Given the description of an element on the screen output the (x, y) to click on. 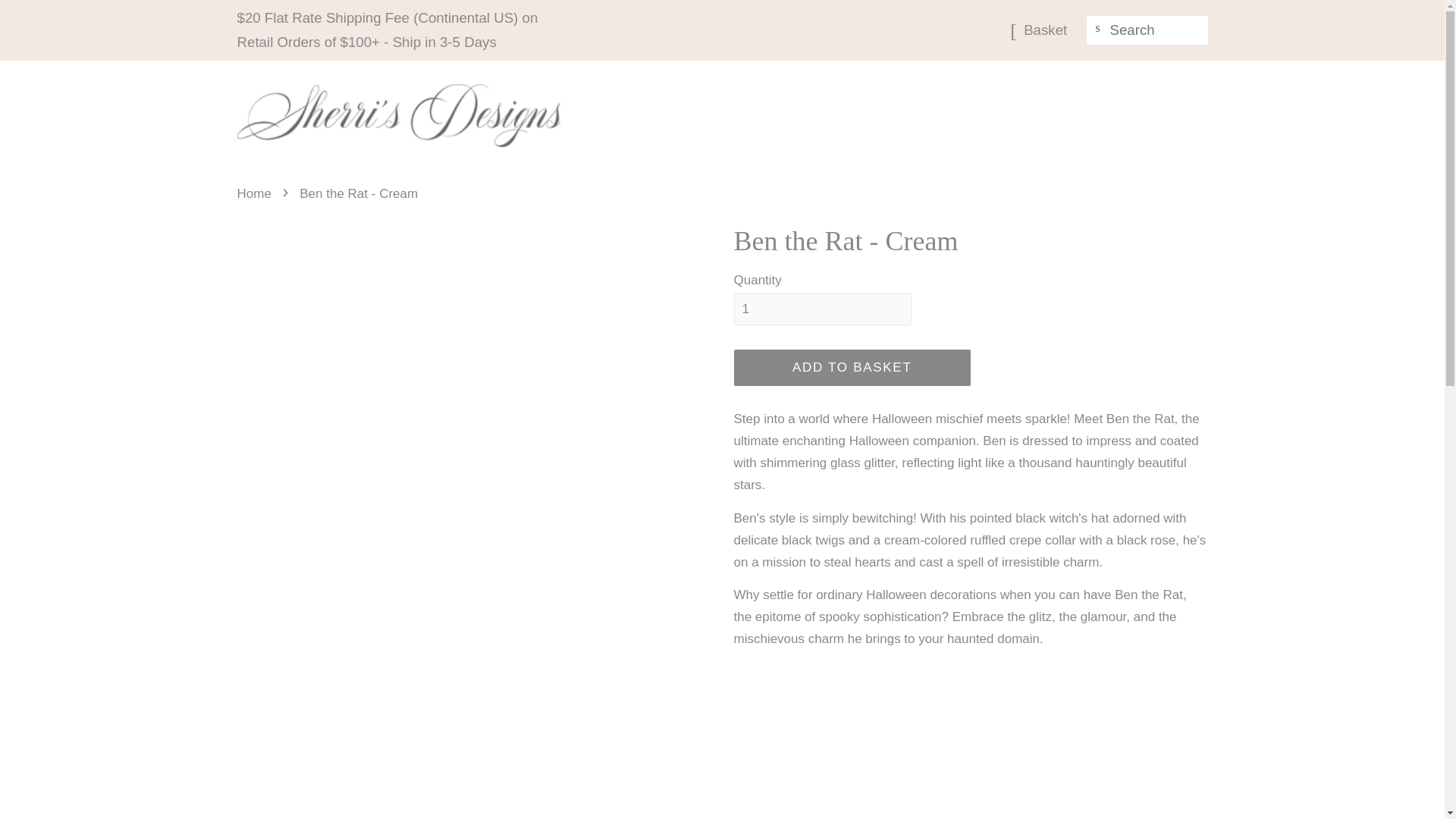
Back to the frontpage (255, 193)
Basket (1045, 30)
SEARCH (1097, 27)
1 (822, 309)
